Given the description of an element on the screen output the (x, y) to click on. 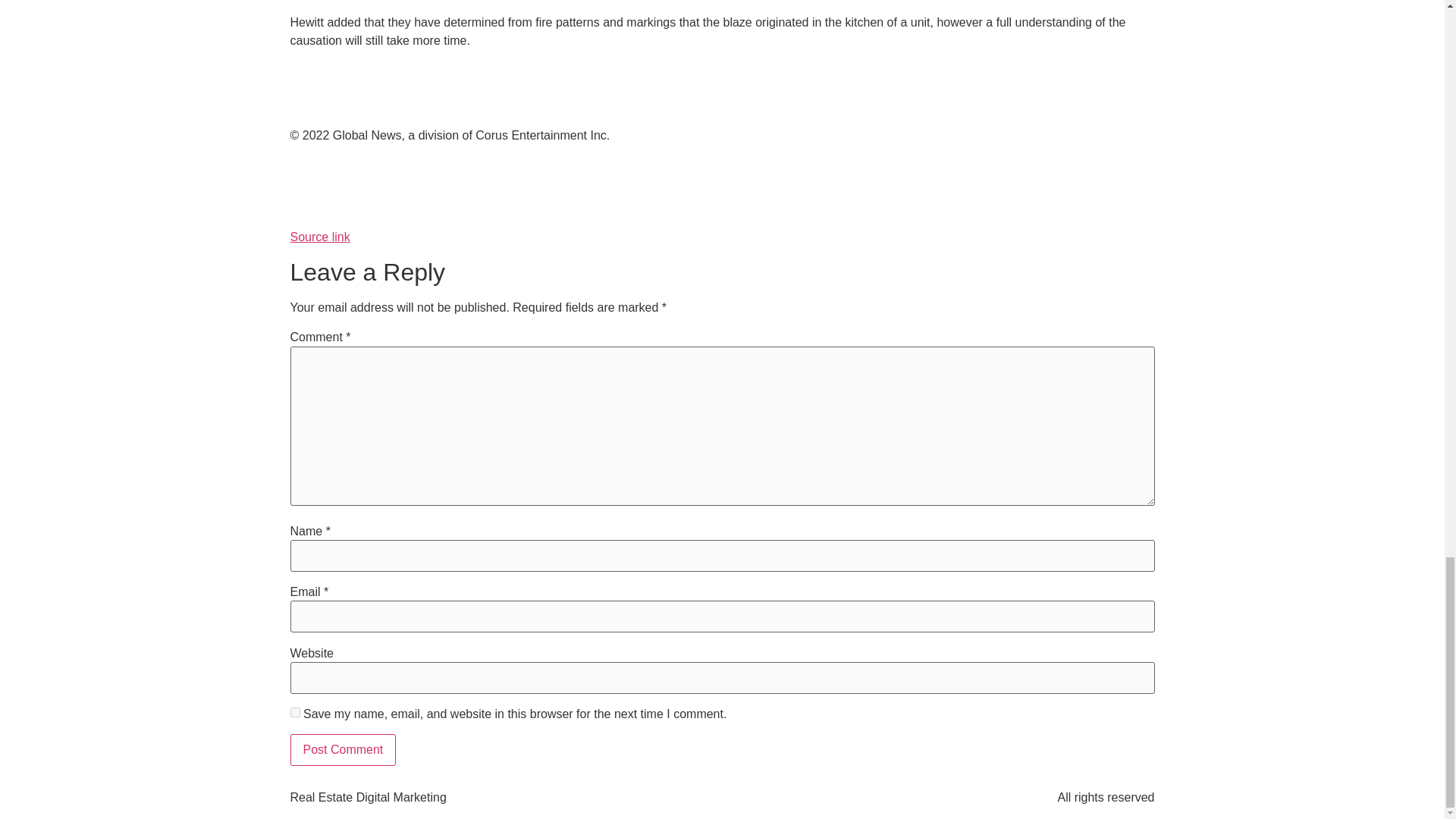
yes (294, 712)
Source link (319, 236)
Post Comment (342, 749)
Post Comment (342, 749)
